Given the description of an element on the screen output the (x, y) to click on. 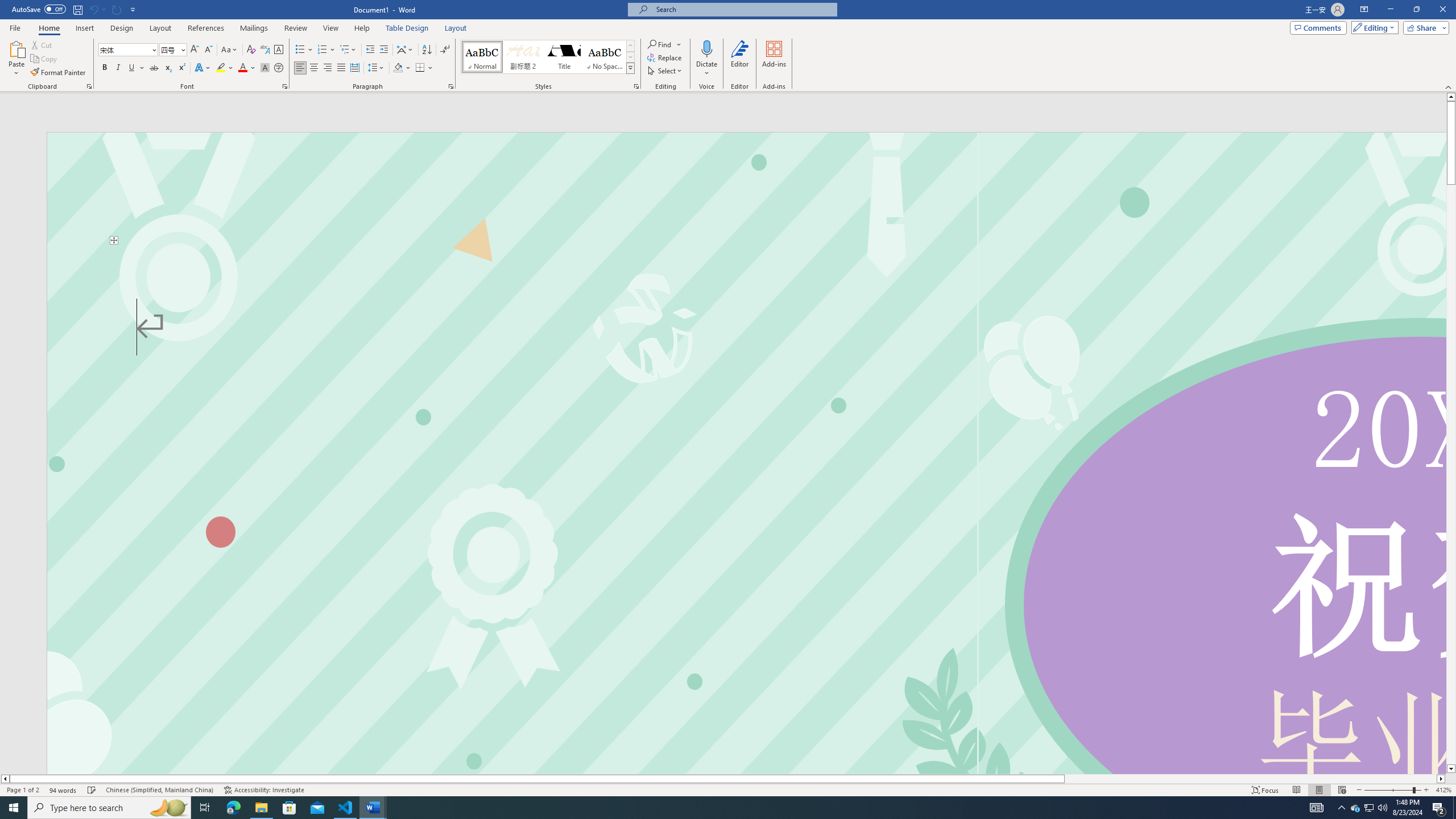
Can't Undo (92, 9)
Column right (1441, 778)
Font Color Red (241, 67)
Page down (1450, 474)
